Given the description of an element on the screen output the (x, y) to click on. 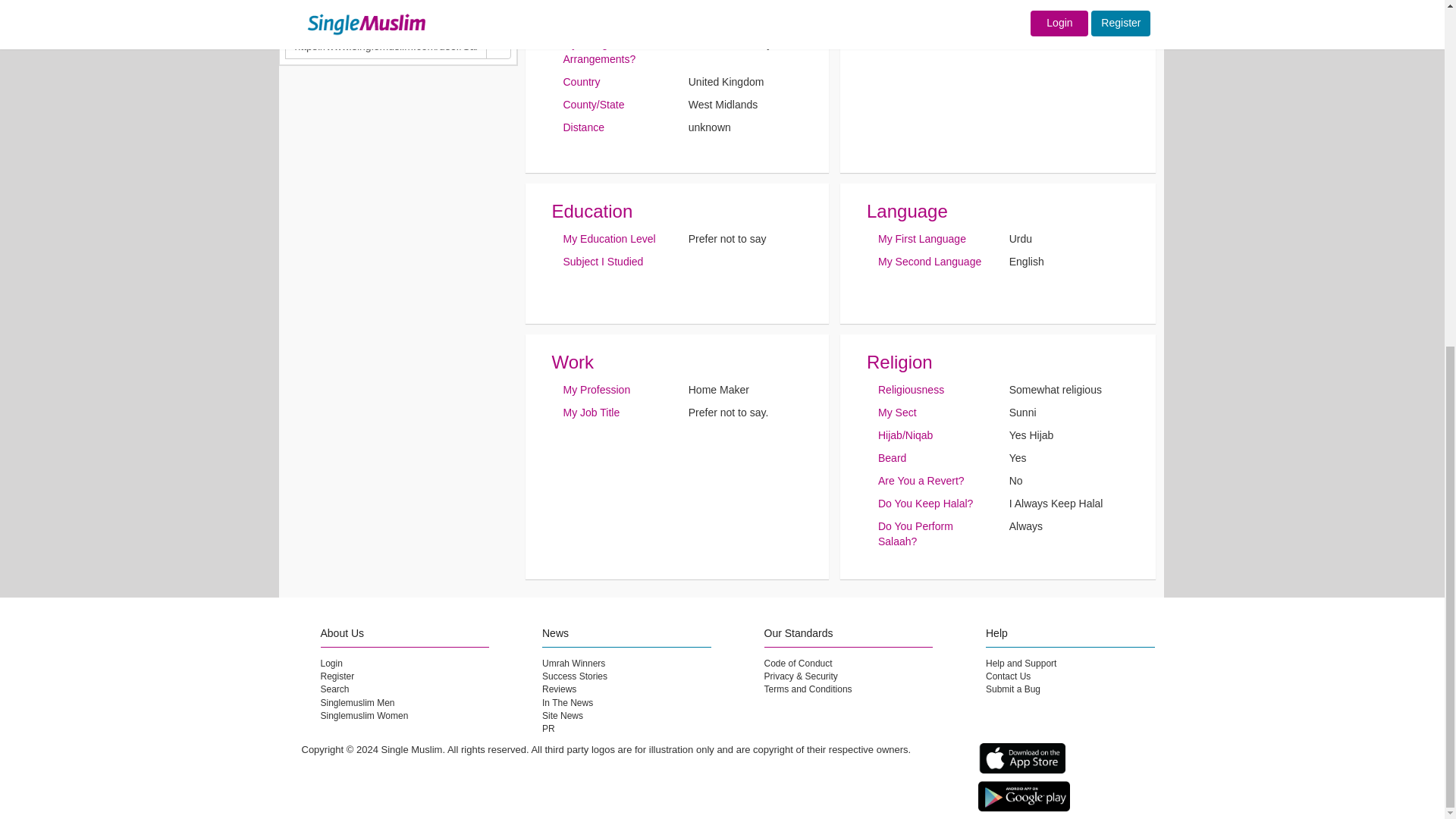
Search (334, 688)
Profile Link (315, 22)
Singlemuslim Men (357, 702)
Login (331, 663)
Register (336, 675)
